Given the description of an element on the screen output the (x, y) to click on. 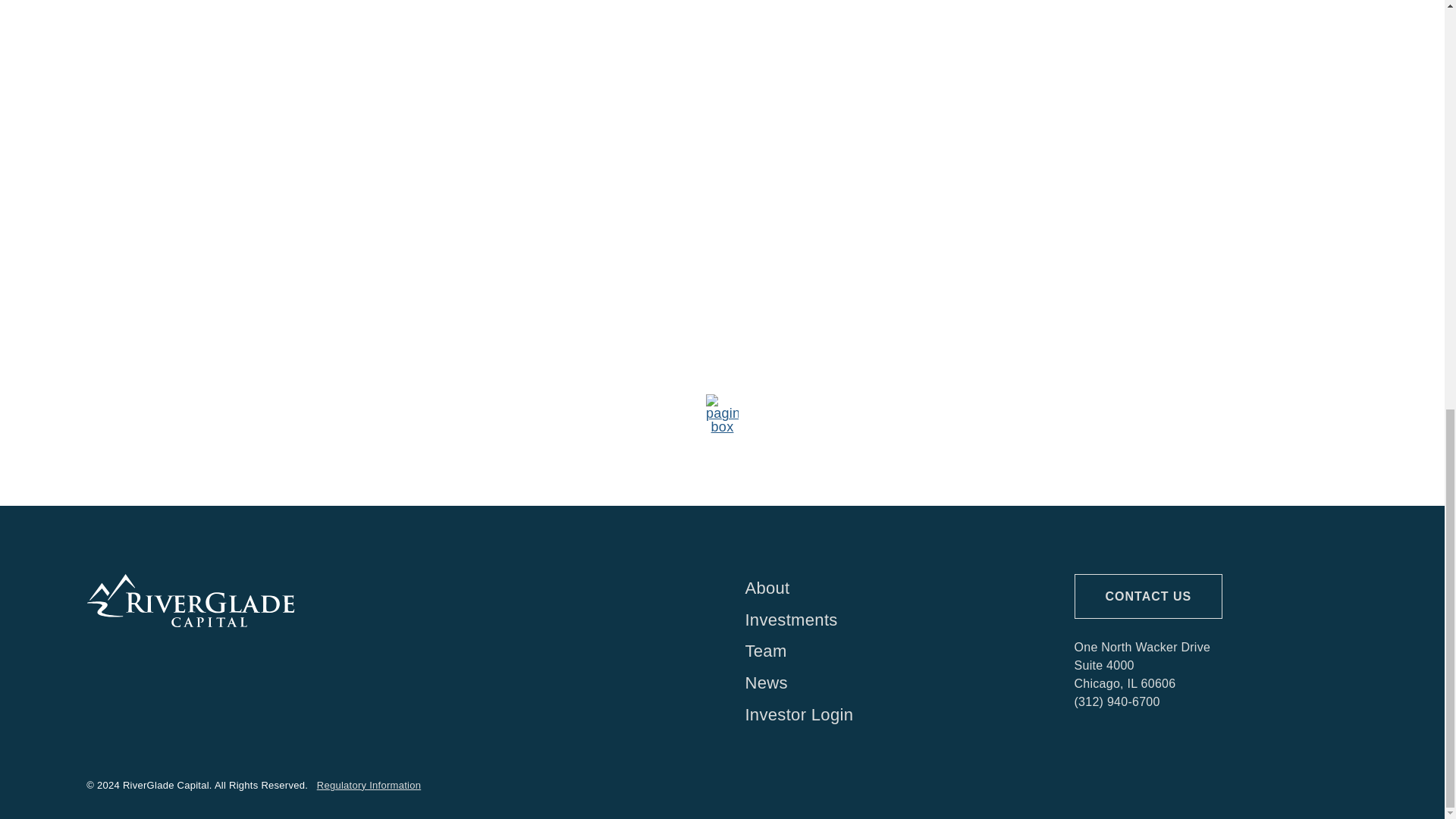
About (885, 588)
CONTACT US (1148, 596)
RiverGlade Capital logo (190, 600)
Team (885, 651)
Previous (325, 411)
Next (1117, 411)
Investments (885, 620)
News (885, 683)
Investor Login (885, 715)
Regulatory Information (368, 785)
